Given the description of an element on the screen output the (x, y) to click on. 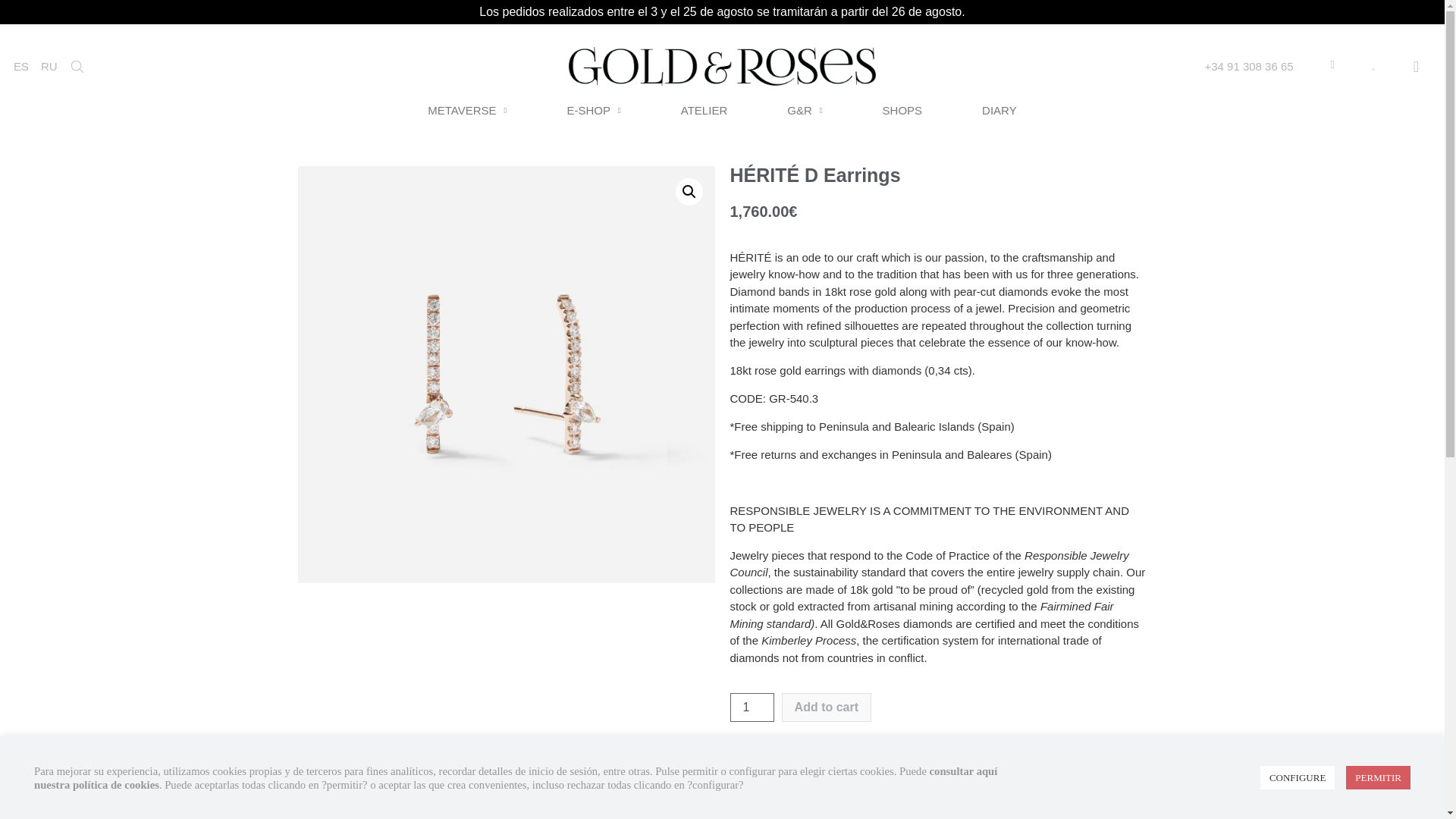
SHOPS (902, 110)
ATELIER (703, 110)
1 (751, 706)
Page 4 (938, 300)
E-SHOP (592, 110)
METAVERSE (466, 110)
DIARY (999, 110)
